Given the description of an element on the screen output the (x, y) to click on. 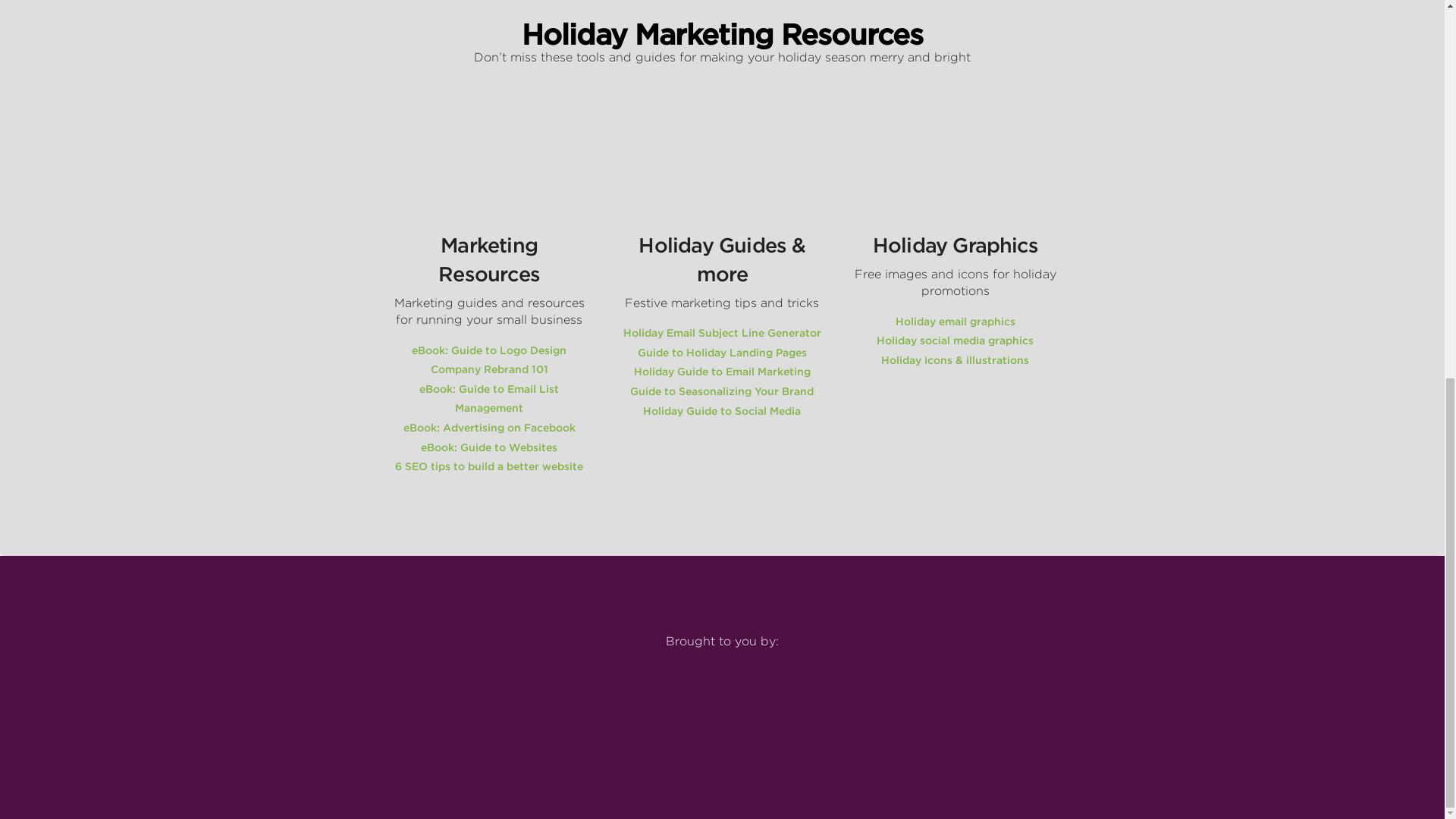
eBook: Guide to Email List Management (489, 398)
Holiday Guide to Email Marketing (721, 371)
Guide to Holiday Landing Pages (721, 352)
Company Rebrand 101 (489, 369)
6 SEO tips to build a better website (488, 466)
eBook: Guide to Logo Design (489, 349)
Holiday Email Subject Line Generator (722, 332)
Guide to Seasonalizing Your Brand (721, 390)
eBook: Advertising on Facebook (489, 427)
eBook: Guide to Websites (488, 447)
